Given the description of an element on the screen output the (x, y) to click on. 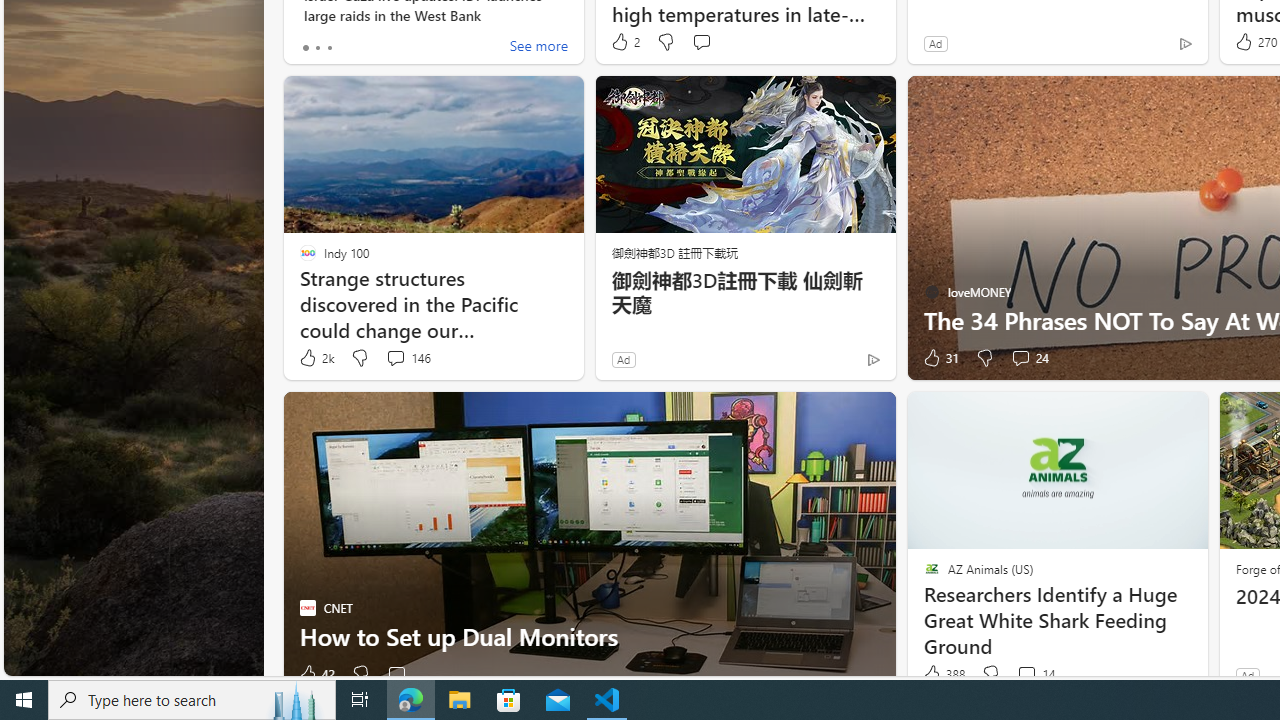
388 Like (942, 674)
View comments 14 Comment (1026, 673)
View comments 146 Comment (408, 358)
tab-1 (317, 47)
